Given the description of an element on the screen output the (x, y) to click on. 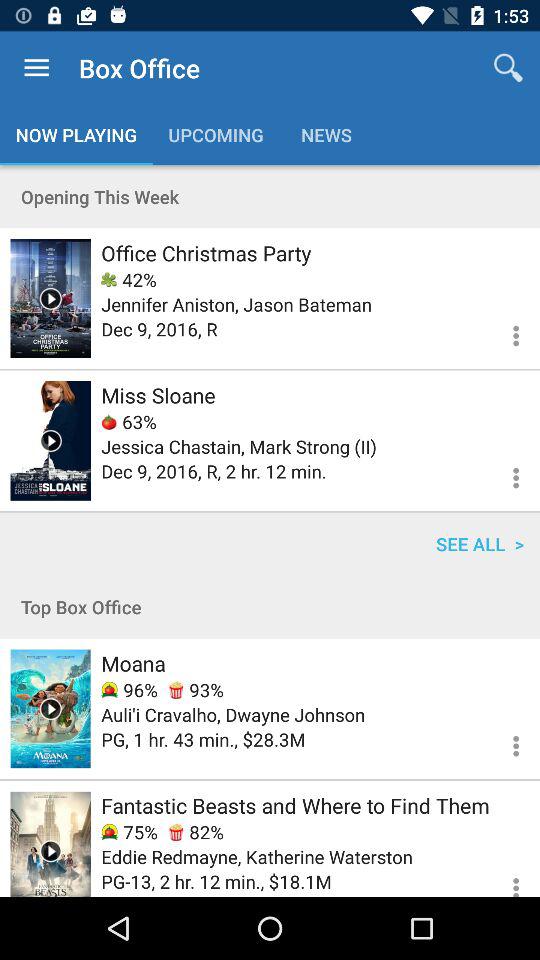
more options (503, 878)
